Given the description of an element on the screen output the (x, y) to click on. 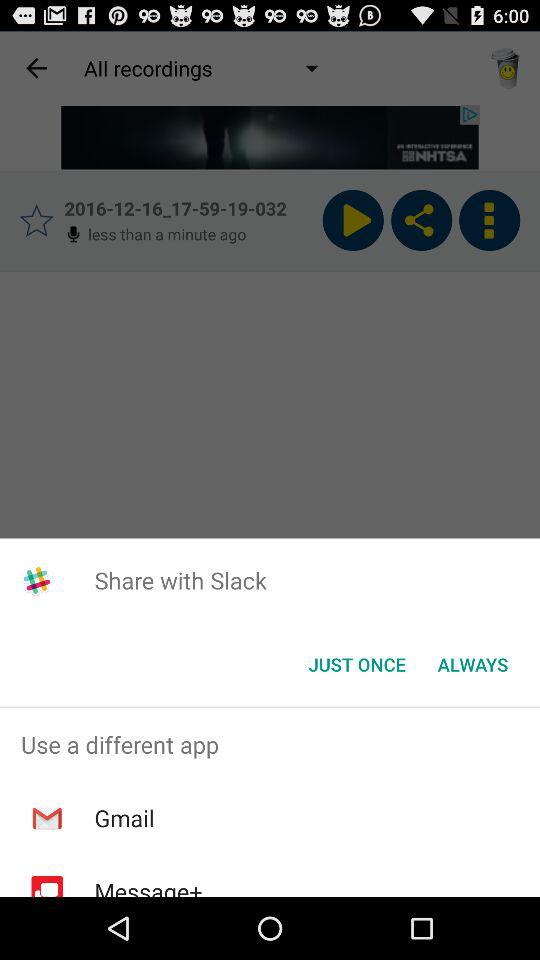
click button to the left of the always item (356, 664)
